Given the description of an element on the screen output the (x, y) to click on. 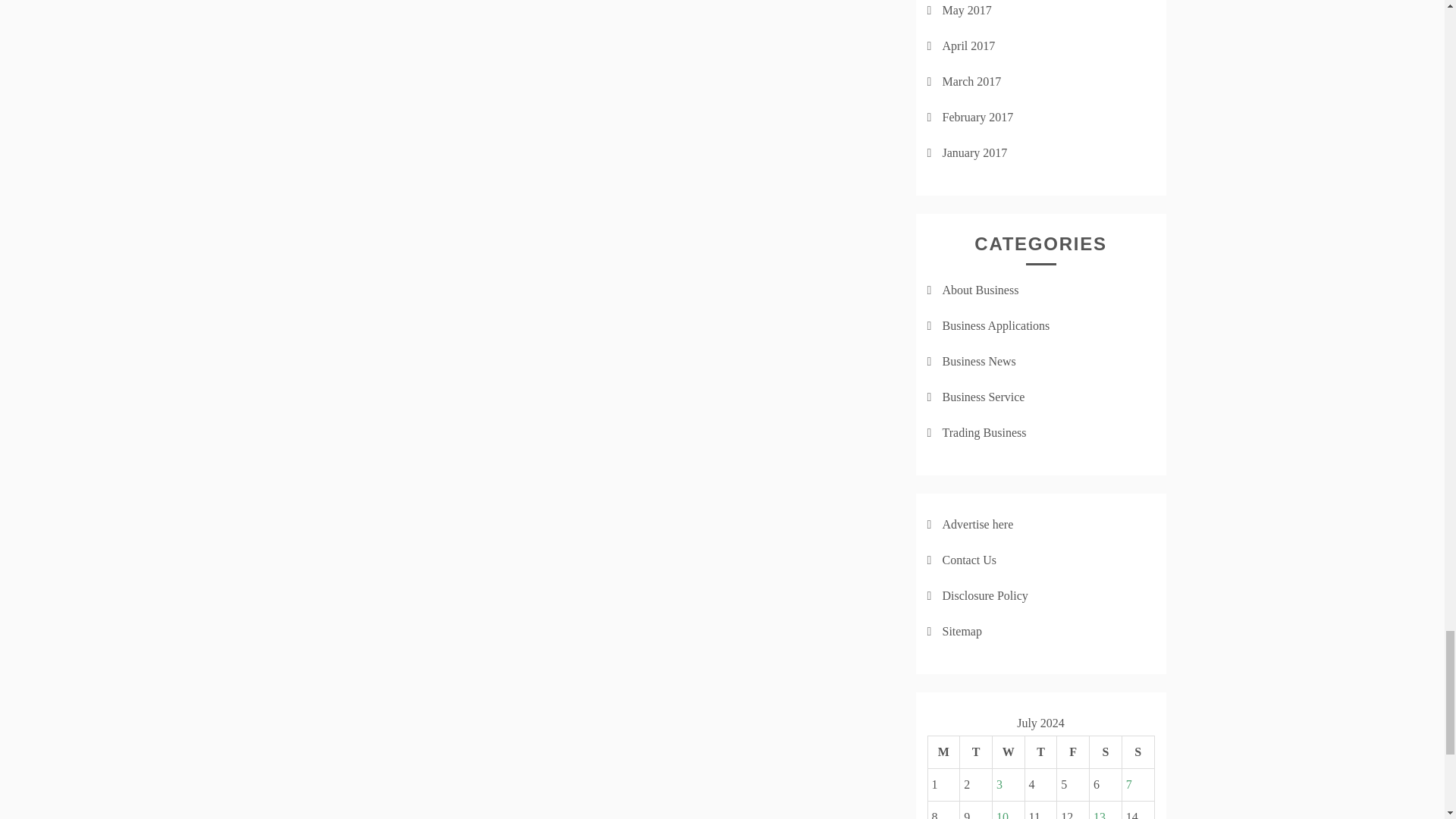
Friday (1073, 751)
Saturday (1105, 751)
Tuesday (975, 751)
Sunday (1137, 751)
Wednesday (1008, 751)
Monday (943, 751)
Thursday (1041, 751)
